Given the description of an element on the screen output the (x, y) to click on. 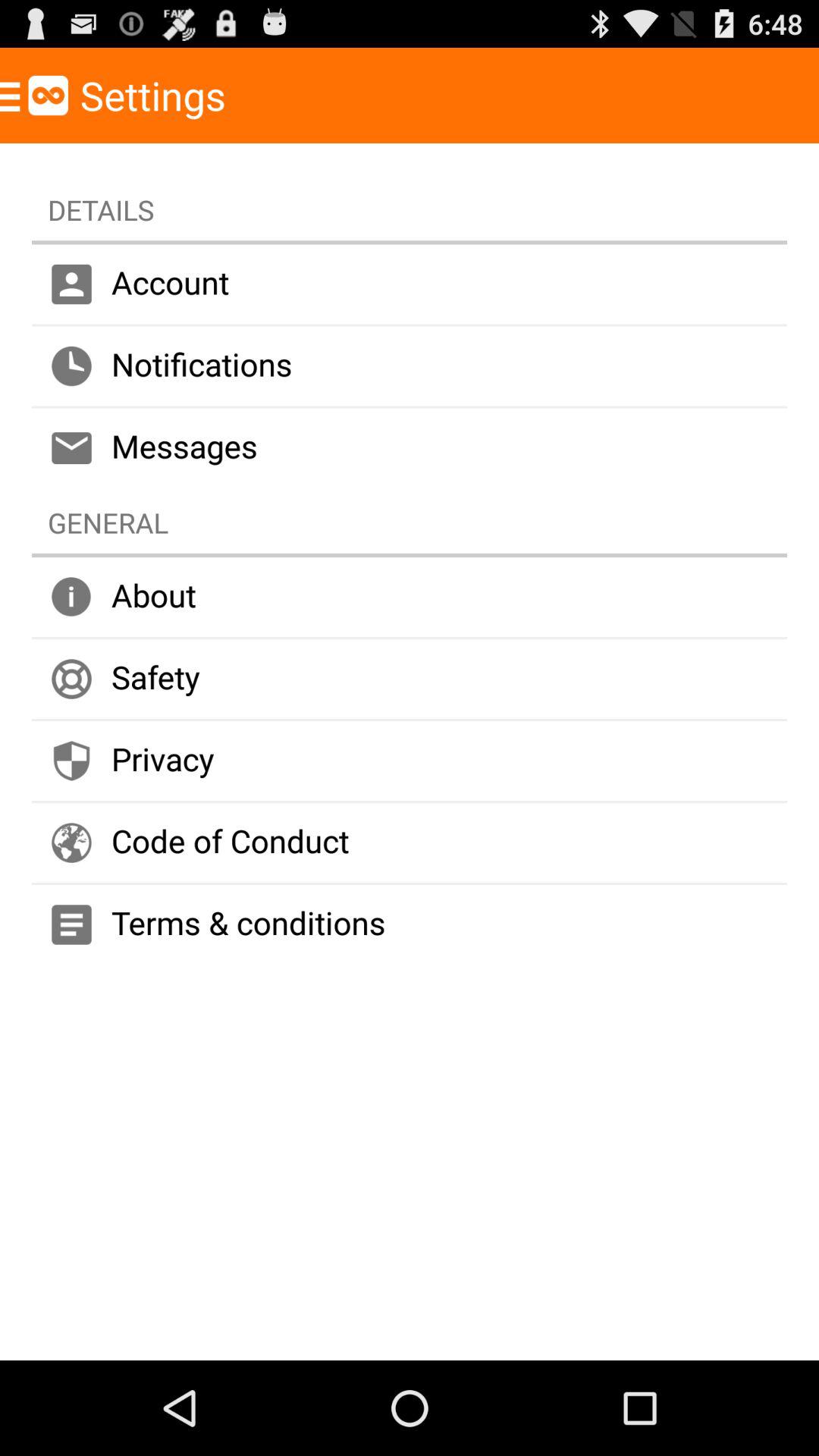
launch account (409, 284)
